Given the description of an element on the screen output the (x, y) to click on. 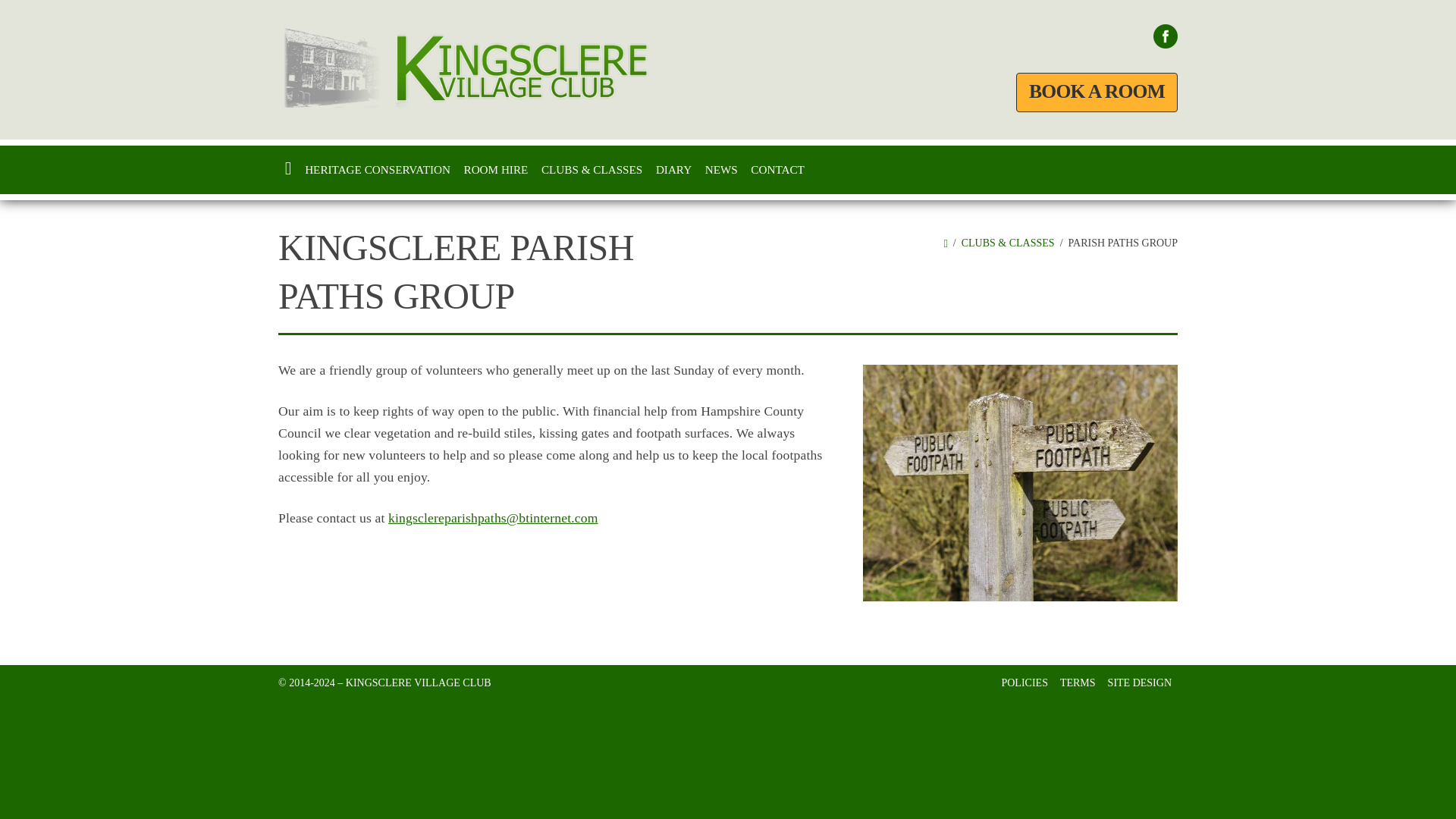
ROOM HIRE (495, 169)
NEWS (721, 169)
Kingsclere Village Club Home (468, 69)
HERITAGE CONSERVATION (377, 169)
TERMS (1077, 682)
SITE DESIGN (1140, 682)
DIARY (673, 169)
POLICIES (1023, 682)
CONTACT (777, 169)
